Given the description of an element on the screen output the (x, y) to click on. 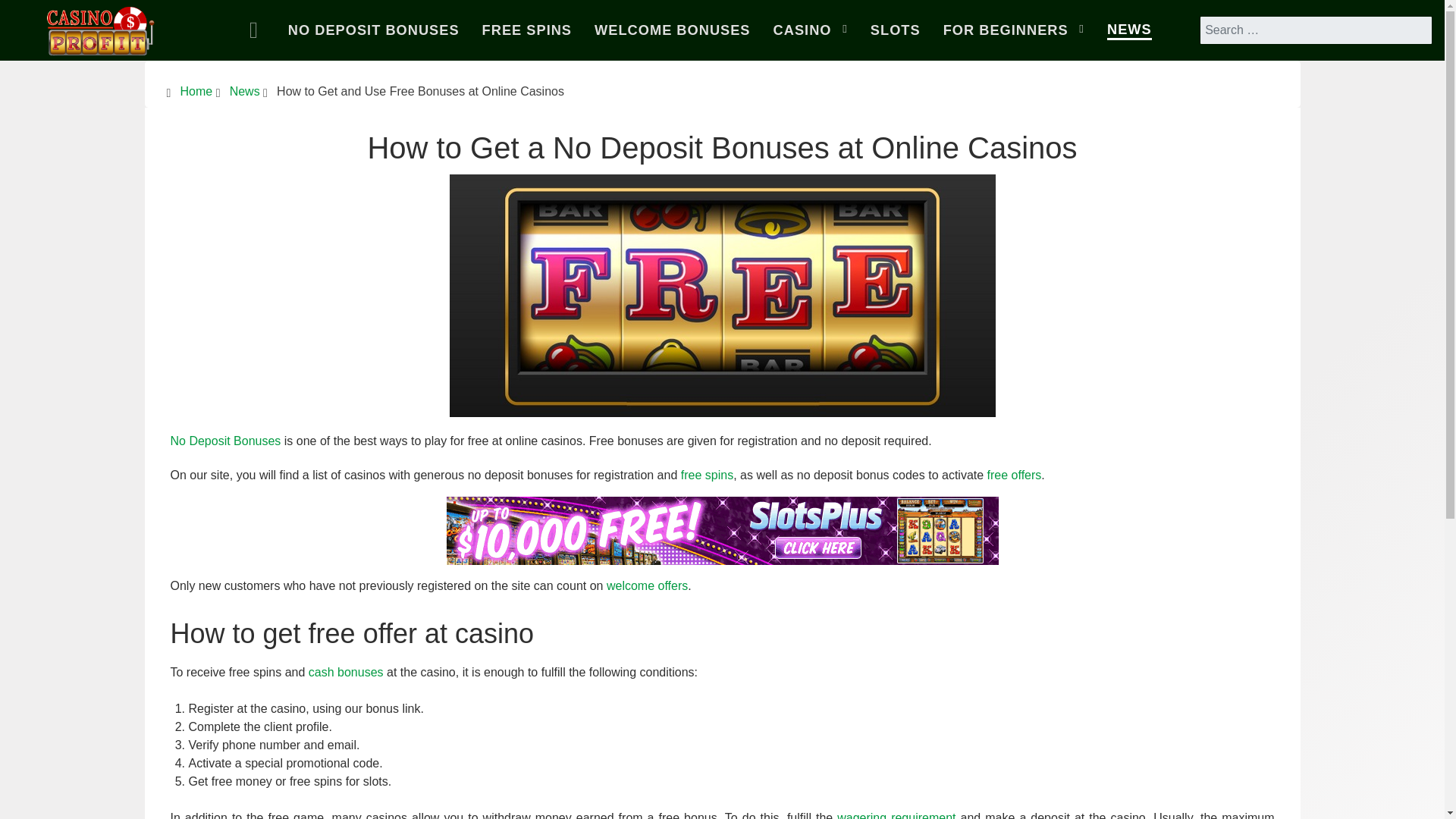
No Deposit Bonuses (225, 440)
CASINO (809, 29)
NO DEPOSIT BONUSES (373, 29)
cash bonuses (346, 671)
FREE SPINS (525, 29)
News (245, 91)
FOR BEGINNERS (1013, 29)
NEWS (1128, 30)
wagering requirement (896, 815)
welcome offers (647, 585)
free spins (707, 474)
Home (196, 91)
Home (257, 30)
Slots Plus Casino bonus (721, 529)
SLOTS (895, 29)
